Given the description of an element on the screen output the (x, y) to click on. 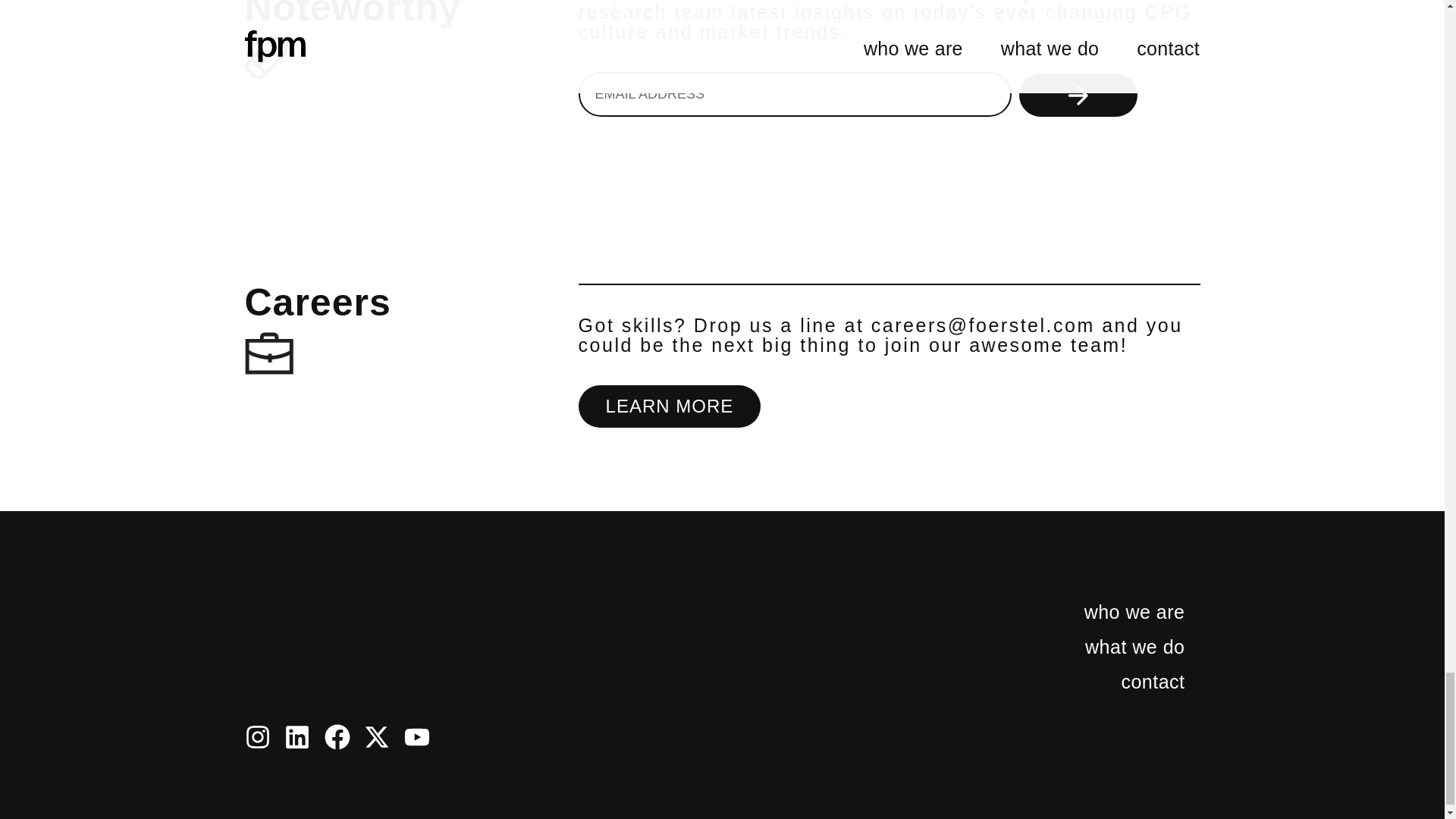
LEARN MORE (669, 405)
contact (1110, 681)
who we are (1110, 611)
what we do (1110, 646)
